Given the description of an element on the screen output the (x, y) to click on. 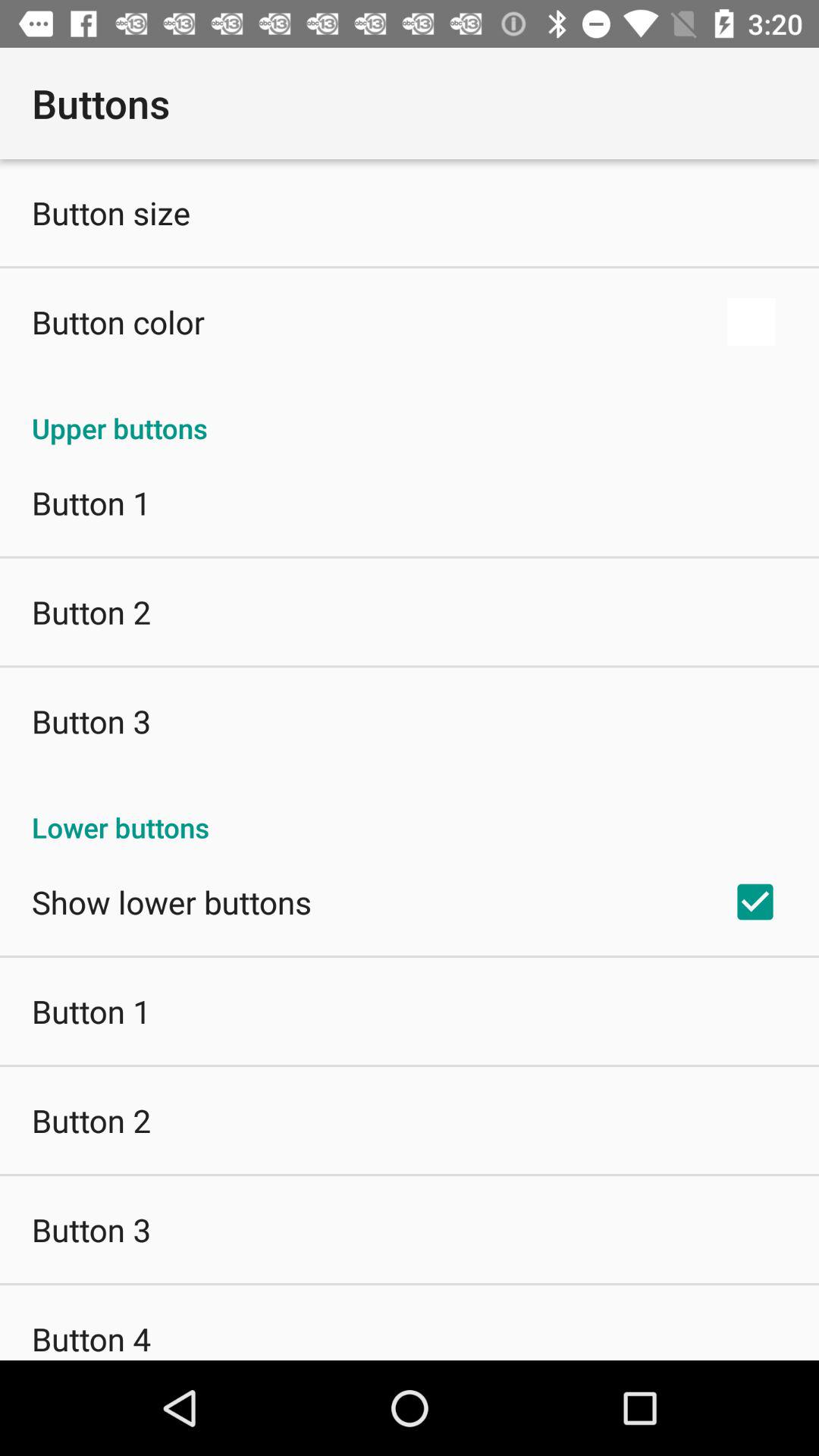
open upper buttons item (409, 412)
